Given the description of an element on the screen output the (x, y) to click on. 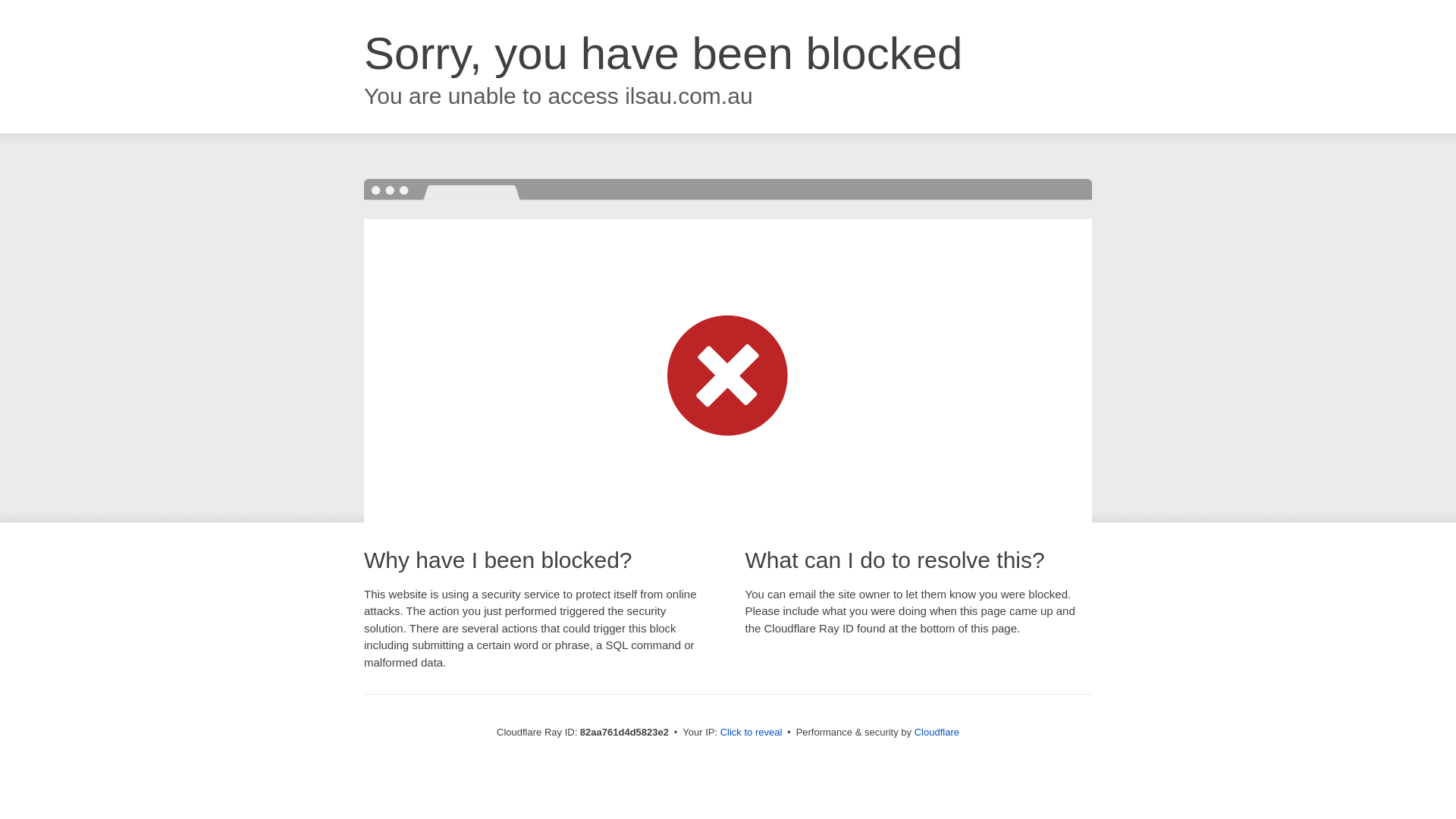
Click to reveal Element type: text (751, 732)
Cloudflare Element type: text (936, 731)
